Given the description of an element on the screen output the (x, y) to click on. 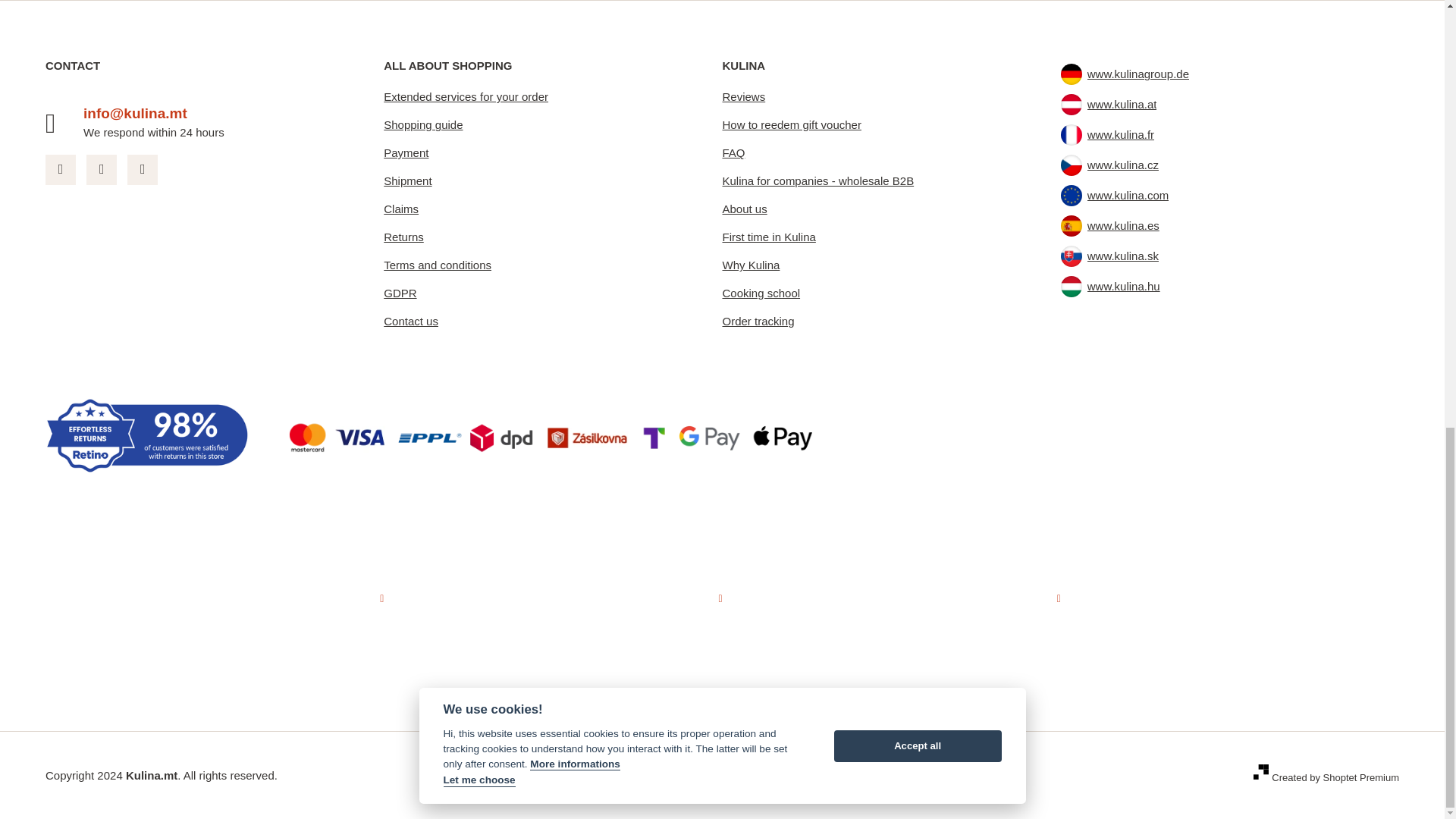
YouTube (142, 169)
Instagram (100, 169)
Facebook (60, 169)
